Given the description of an element on the screen output the (x, y) to click on. 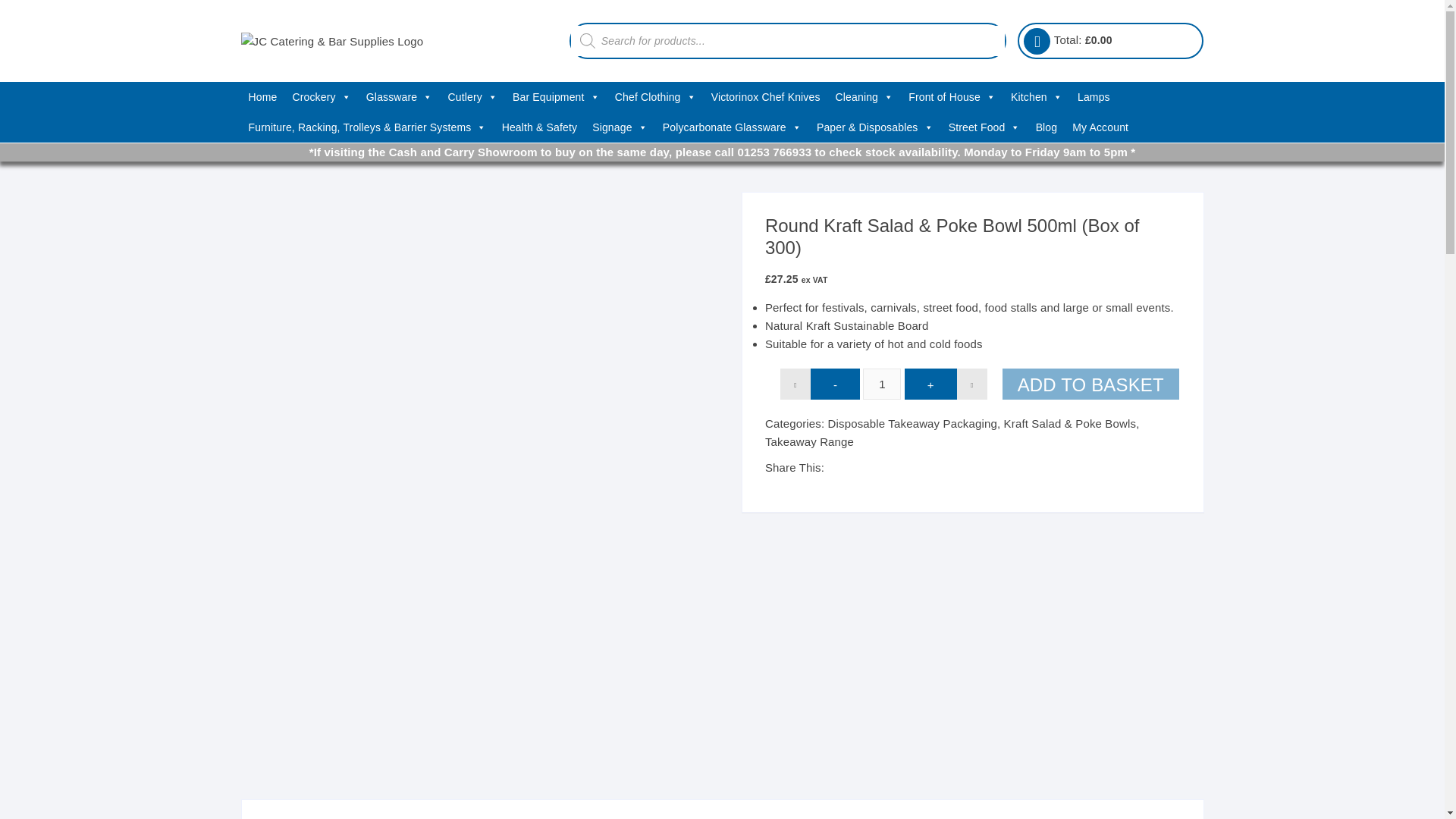
Crockery (320, 96)
Home (263, 96)
Crockery (320, 96)
JC Catering and Bar Supplies Home Page (263, 96)
1 (882, 383)
